Given the description of an element on the screen output the (x, y) to click on. 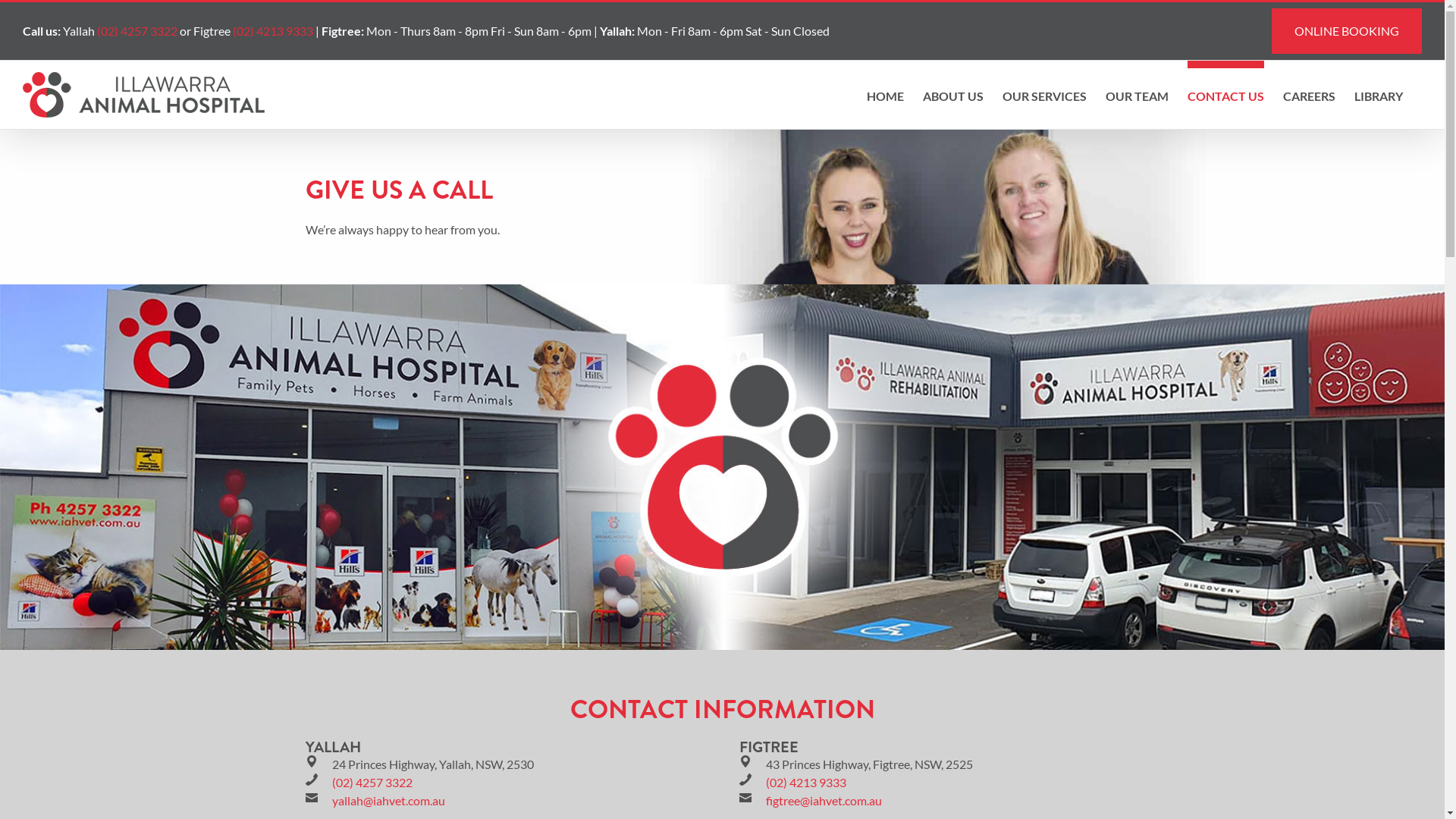
HOME Element type: text (884, 92)
(02) 4257 3322 Element type: text (372, 782)
(02) 4213 9333 Element type: text (272, 30)
yallah@iahvet.com.au Element type: text (388, 800)
CAREERS Element type: text (1309, 92)
ONLINE BOOKING Element type: text (1346, 30)
(02) 4213 9333 Element type: text (805, 782)
OUR TEAM Element type: text (1136, 92)
LIBRARY Element type: text (1378, 92)
CONTACT US Element type: text (1225, 92)
(02) 4257 3322 Element type: text (137, 30)
ABOUT US Element type: text (952, 92)
OUR SERVICES Element type: text (1044, 92)
figtree@iahvet.com.au Element type: text (823, 800)
